Given the description of an element on the screen output the (x, y) to click on. 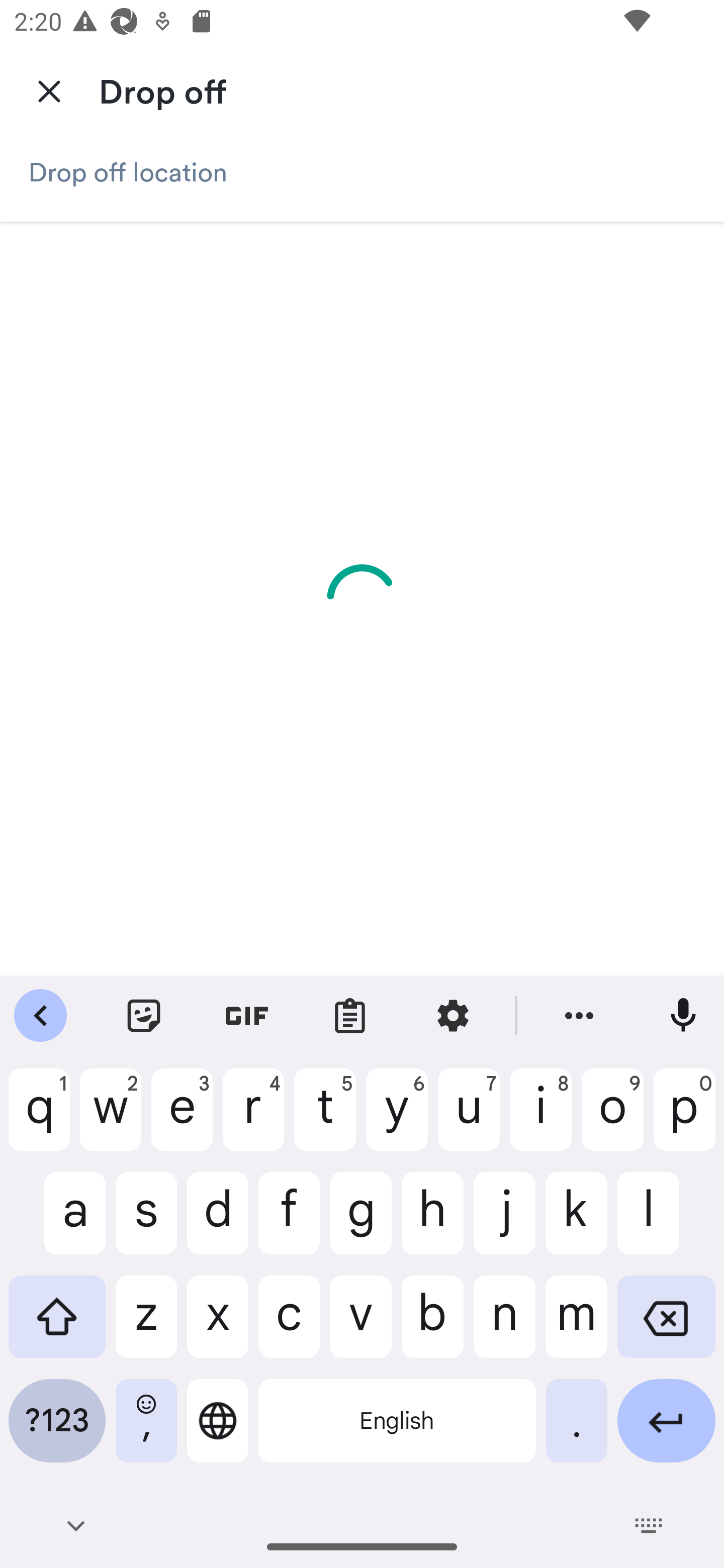
Navigate up (49, 90)
